Given the description of an element on the screen output the (x, y) to click on. 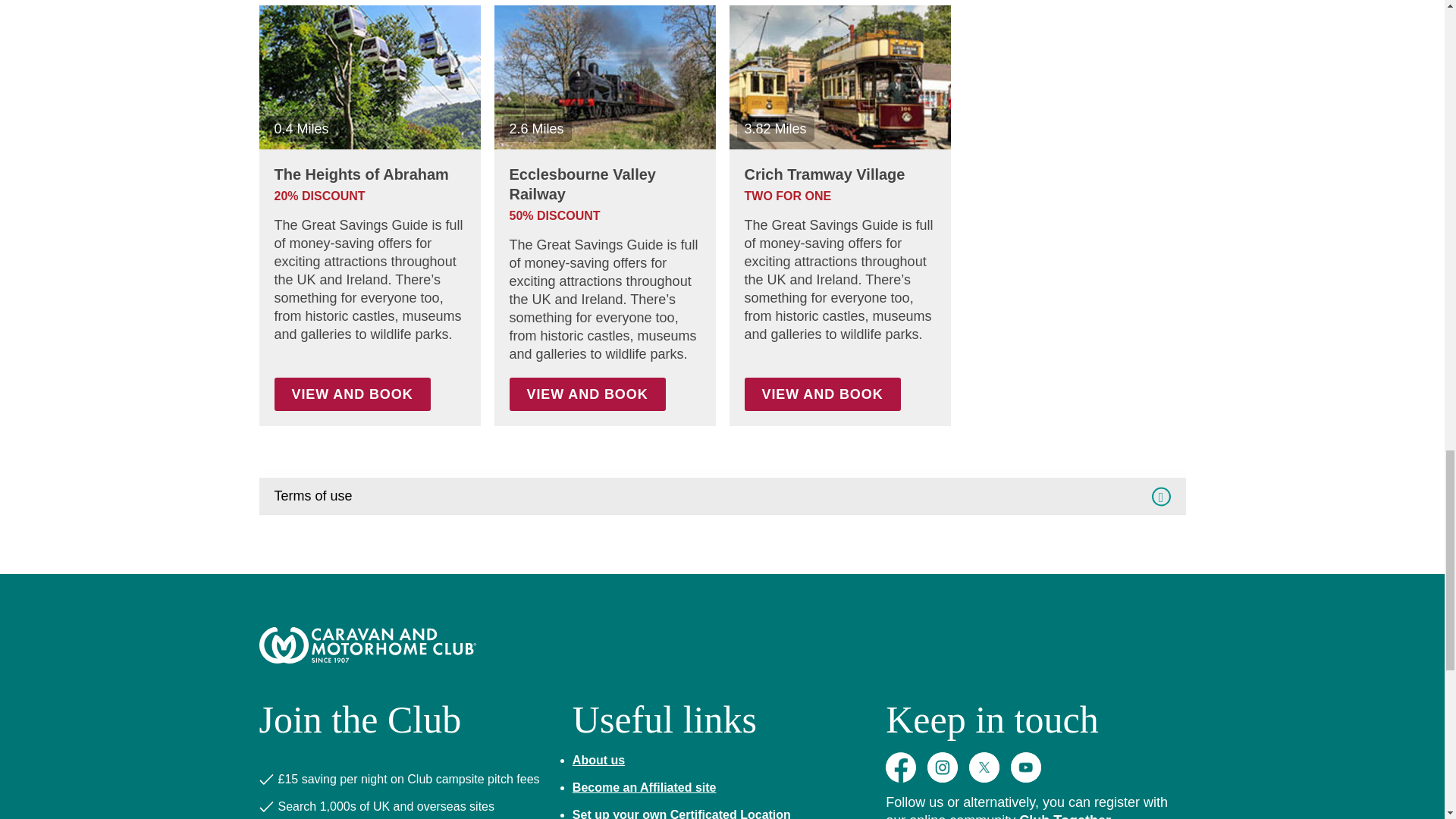
YouTube (1025, 767)
Facebook (900, 767)
Instagram (942, 767)
Twitter (983, 767)
Club Together (1064, 816)
